Given the description of an element on the screen output the (x, y) to click on. 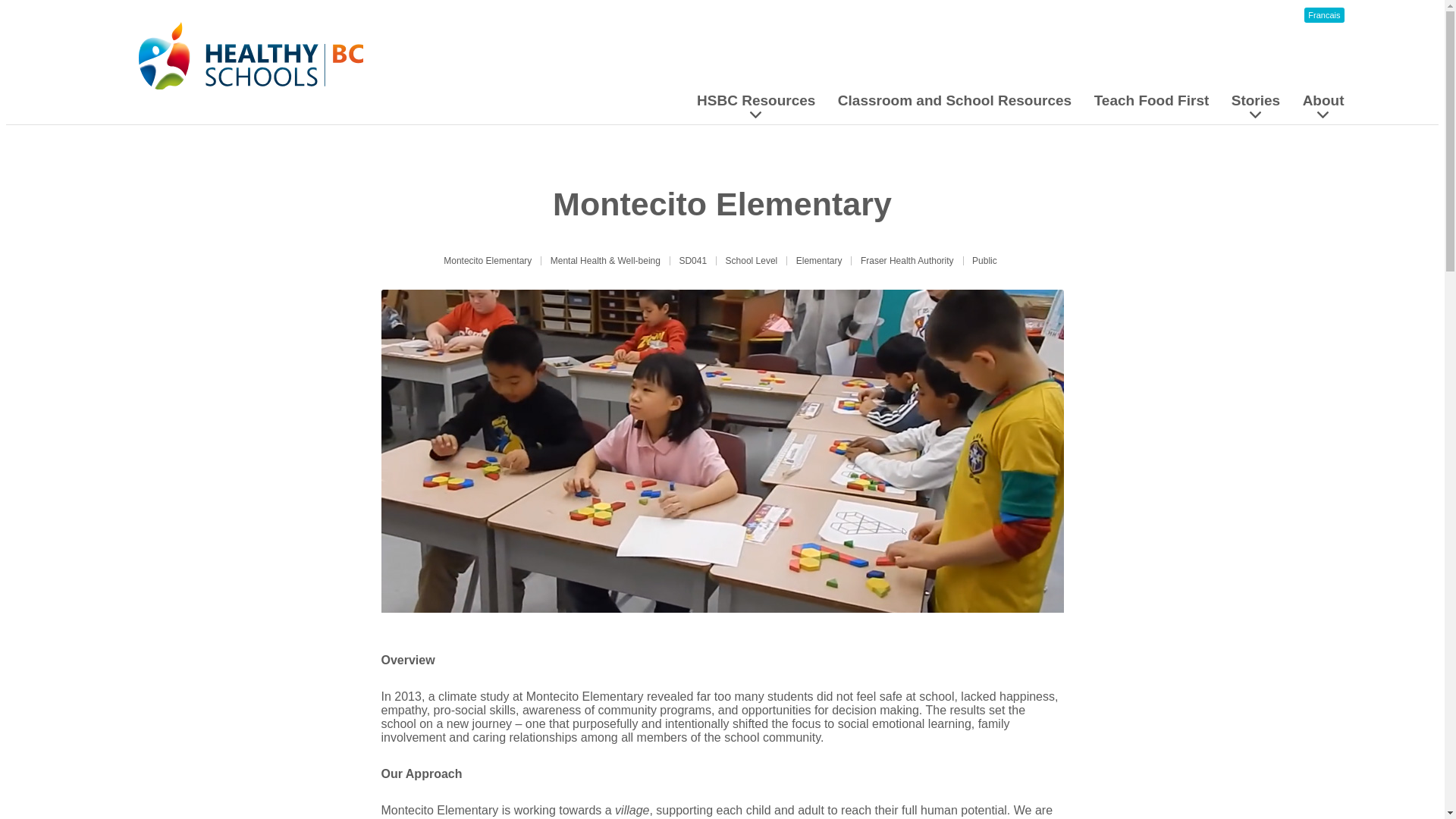
HSBC Resources (756, 109)
Francais (1323, 14)
Classroom and School Resources (954, 100)
